Given the description of an element on the screen output the (x, y) to click on. 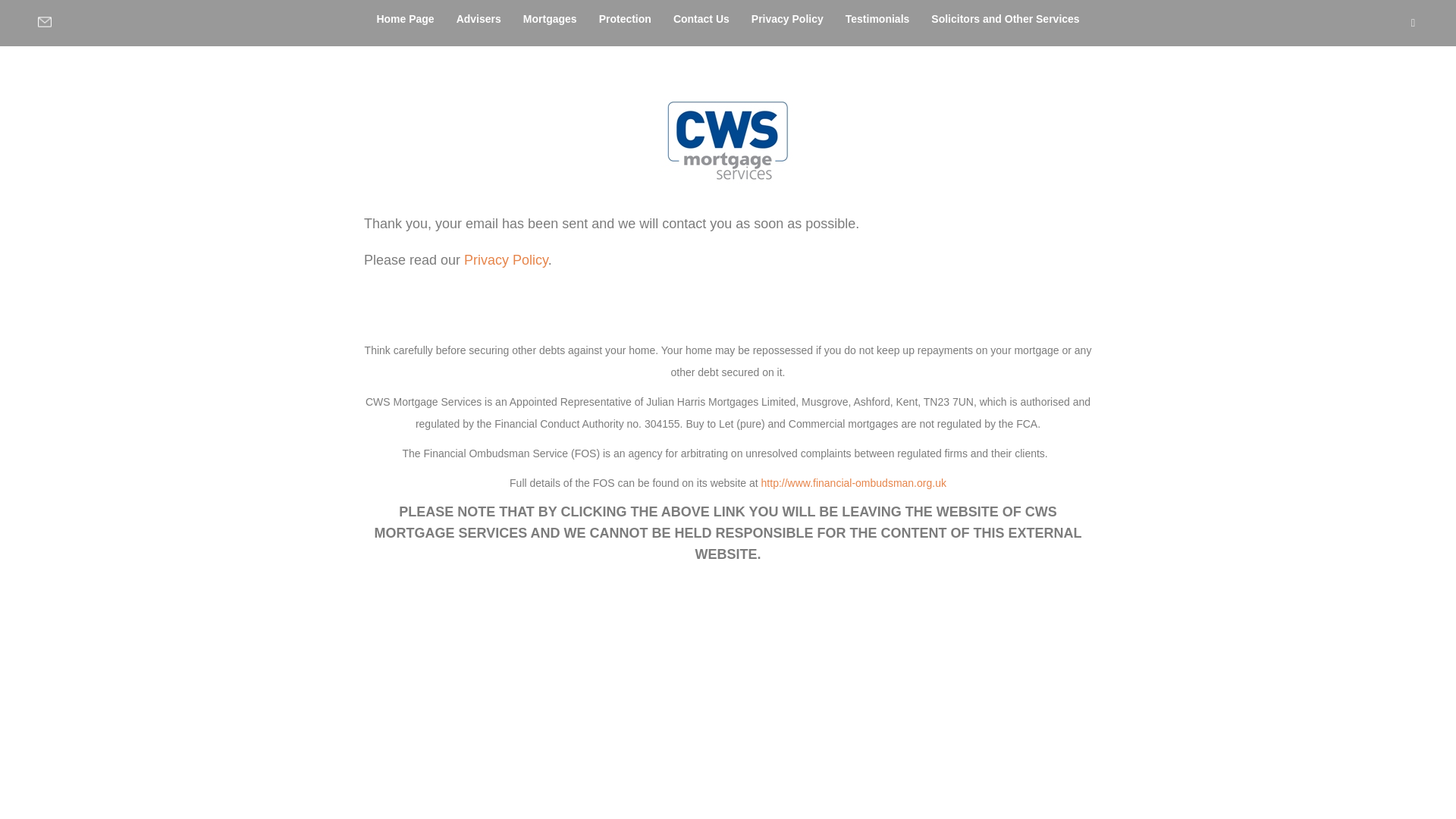
Mortgages (549, 18)
Privacy Policy (506, 259)
Advisers (478, 18)
Contact Us (700, 18)
Solicitors and Other Services (1004, 18)
Home Page (404, 18)
Privacy Policy (787, 18)
Protection (625, 18)
Testimonials (876, 18)
